Given the description of an element on the screen output the (x, y) to click on. 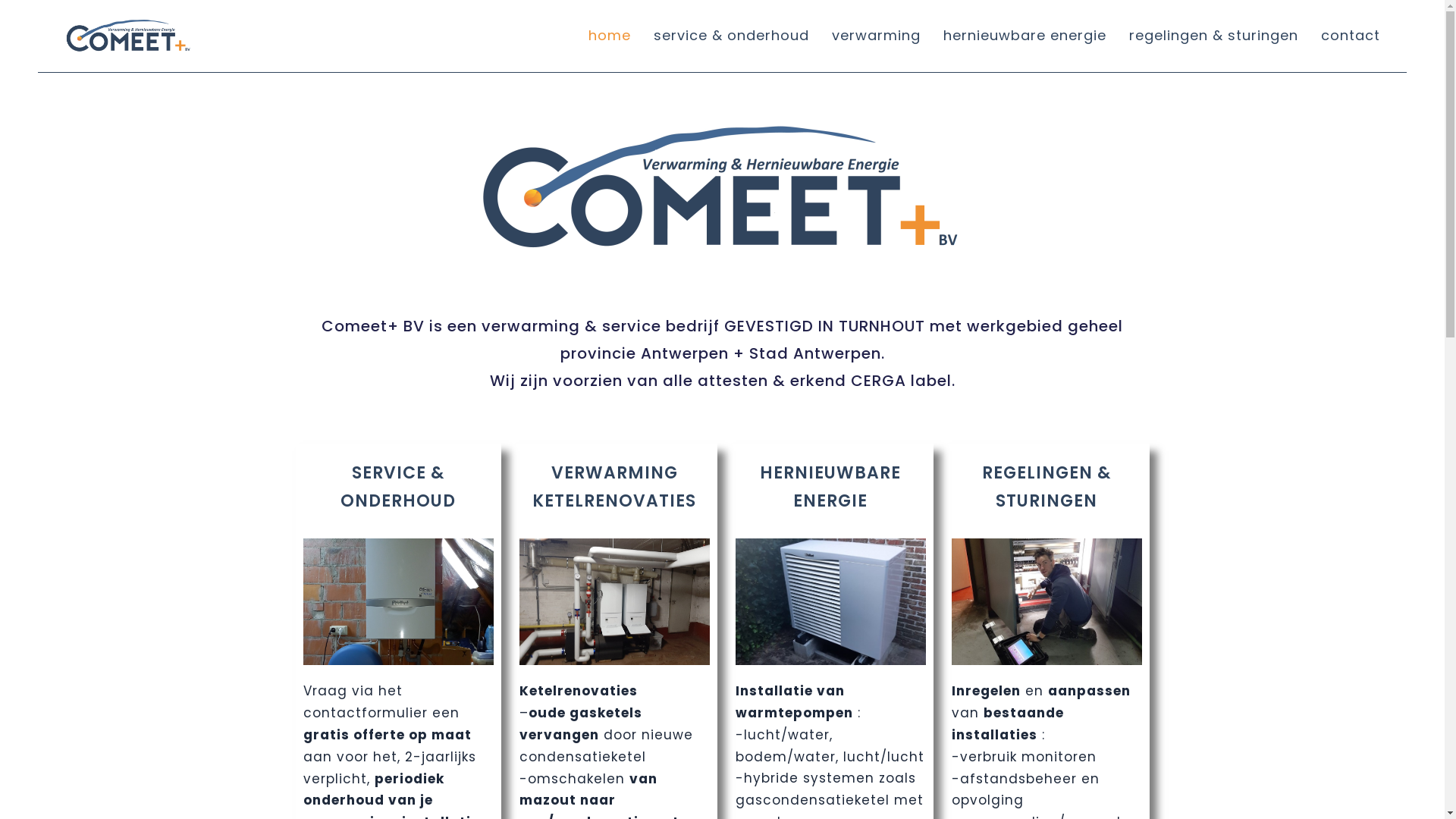
HERNIEUWBARE ENERGIE Element type: text (829, 486)
verwarming Element type: text (875, 35)
home Element type: text (609, 35)
hernieuwbare energie Element type: text (1024, 35)
service & onderhoud Element type: text (731, 35)
regelingen & sturingen Element type: text (1213, 35)
SERVICE & ONDERHOUD Element type: text (397, 486)
REGELINGEN & STURINGEN Element type: text (1046, 486)
contact Element type: text (1350, 35)
VERWARMING KETELRENOVATIES Element type: text (614, 486)
